Given the description of an element on the screen output the (x, y) to click on. 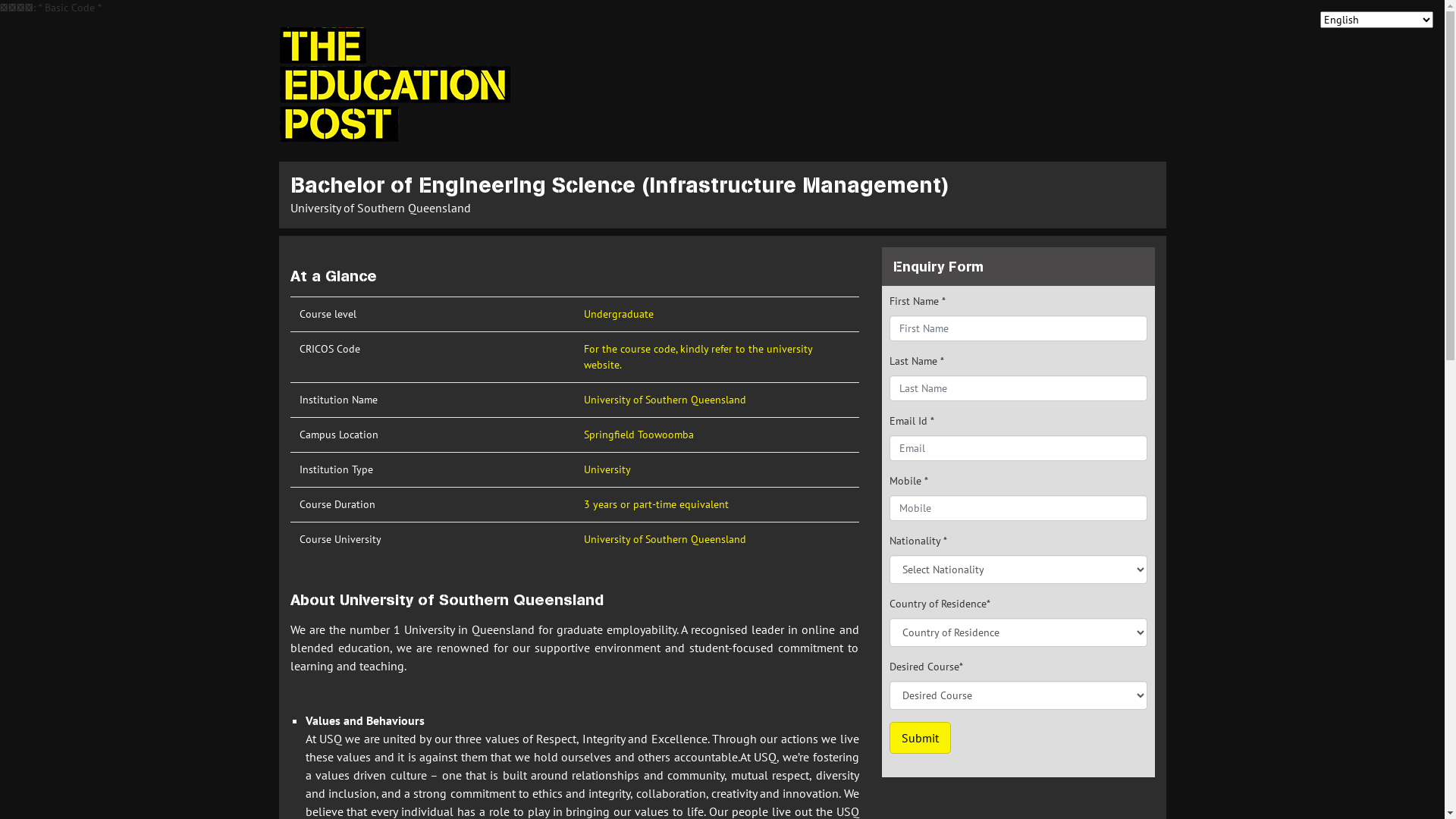
Submit Element type: text (919, 737)
